Given the description of an element on the screen output the (x, y) to click on. 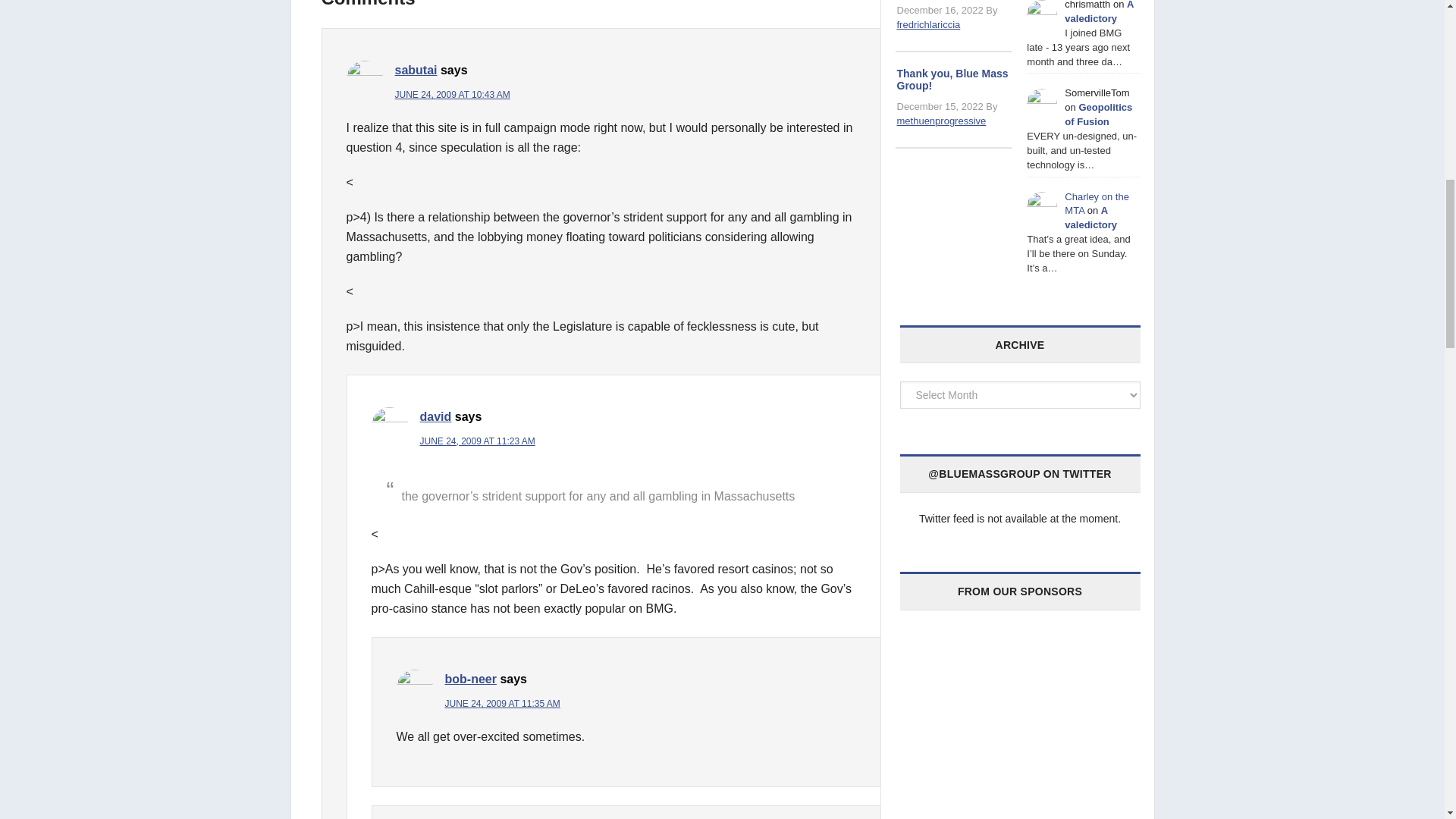
bob-neer (470, 678)
JUNE 24, 2009 AT 10:43 AM (451, 94)
JUNE 24, 2009 AT 11:23 AM (477, 440)
sabutai (415, 69)
JUNE 24, 2009 AT 11:35 AM (501, 703)
david (435, 416)
